Given the description of an element on the screen output the (x, y) to click on. 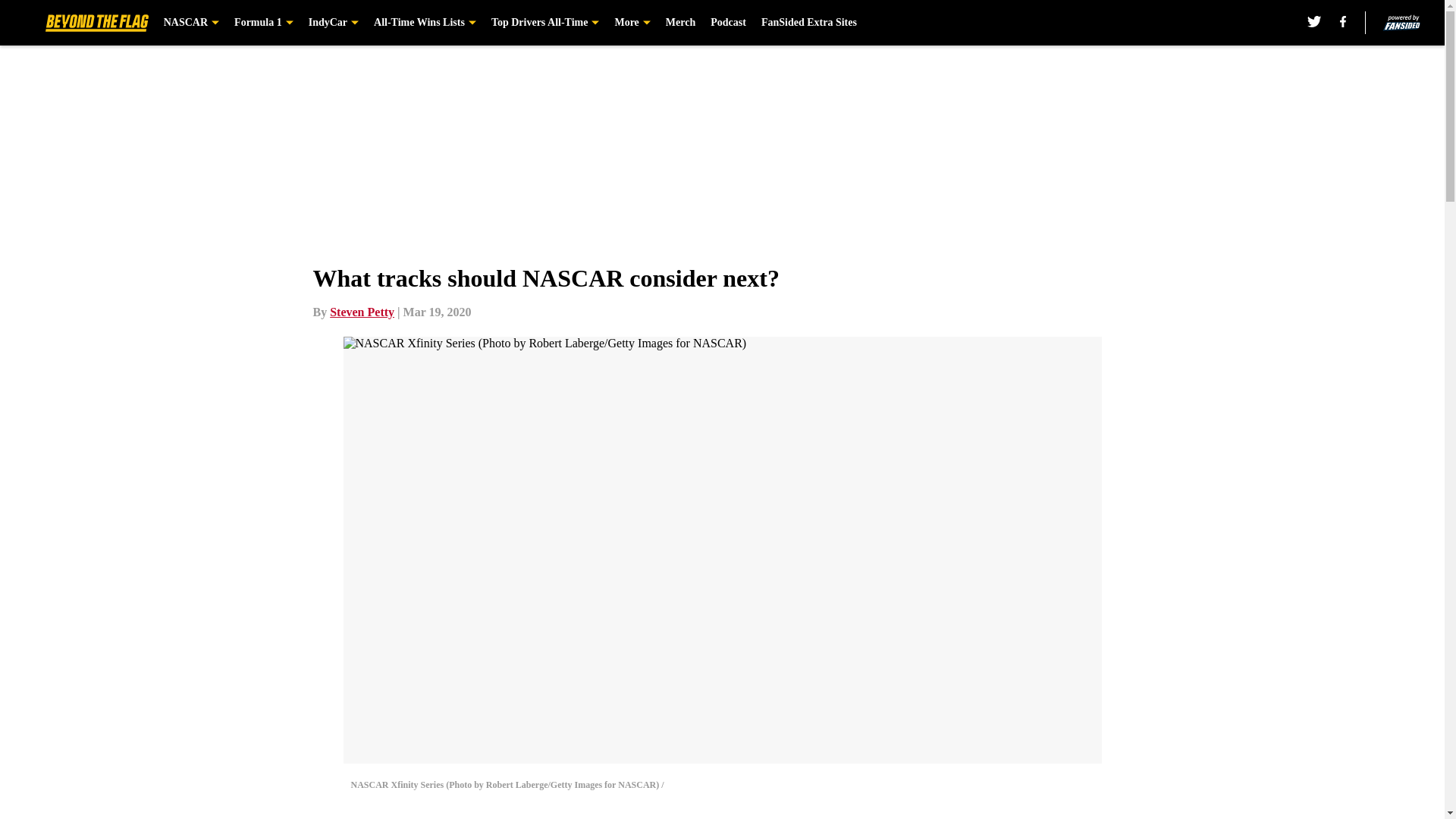
FanSided Extra Sites (809, 22)
Steven Petty (362, 311)
Podcast (727, 22)
Merch (680, 22)
